Given the description of an element on the screen output the (x, y) to click on. 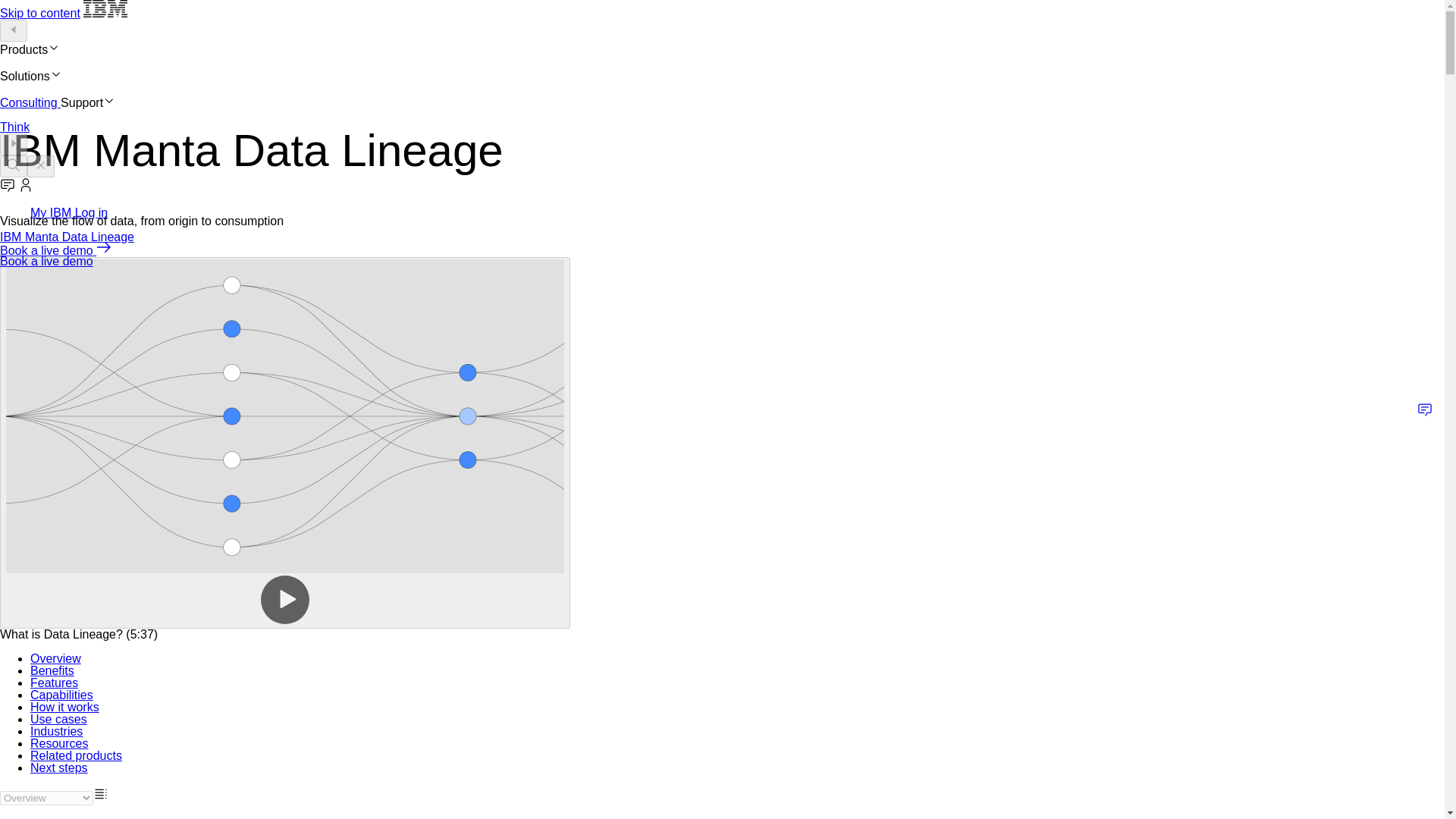
Think (14, 126)
Consulting (30, 102)
